Given the description of an element on the screen output the (x, y) to click on. 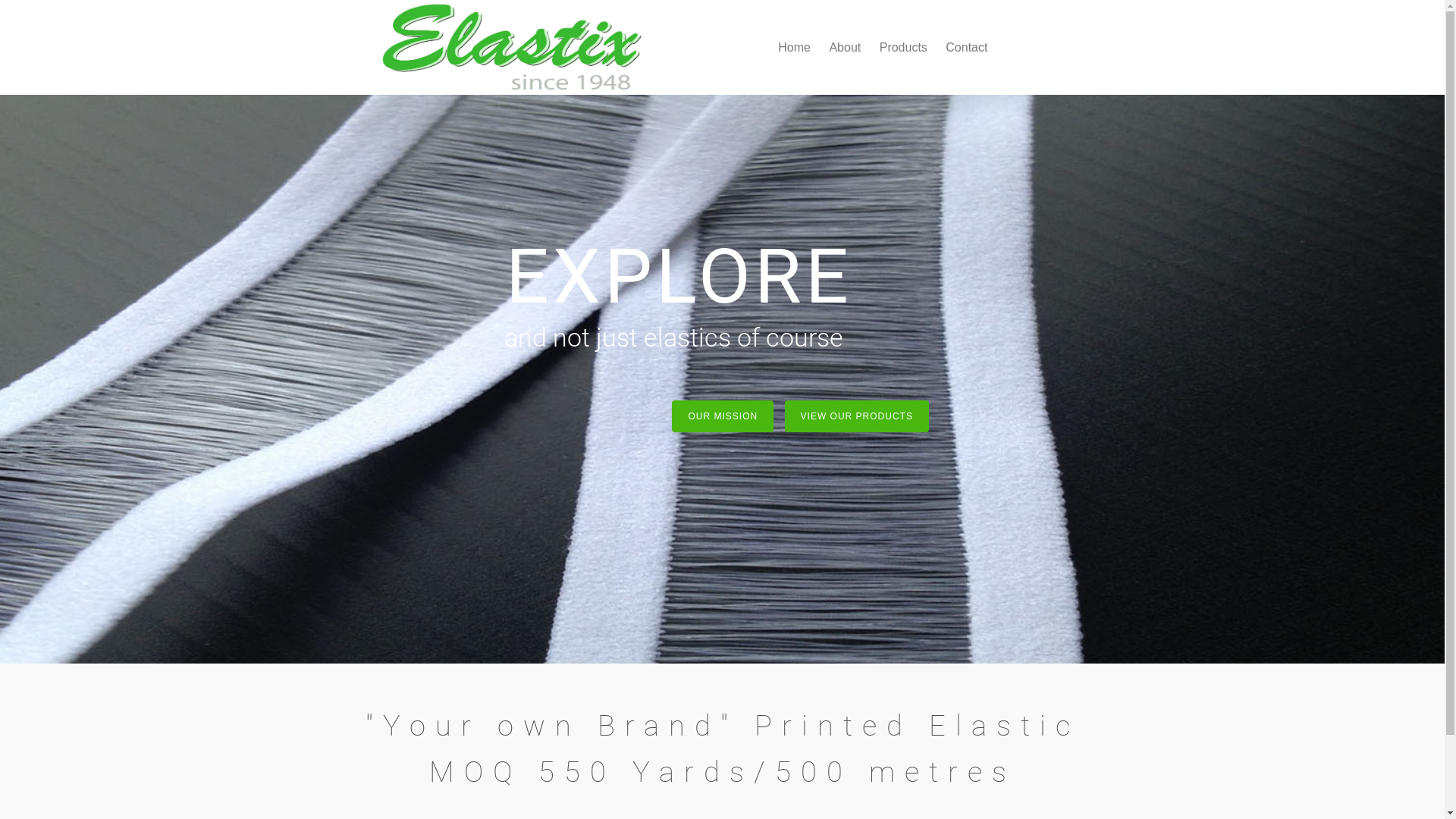
About Element type: text (844, 46)
Contact Element type: text (966, 46)
OUR MISSION Element type: text (722, 416)
Products Element type: text (903, 46)
VIEW OUR PRODUCTS Element type: text (856, 416)
Home Element type: text (794, 46)
